Given the description of an element on the screen output the (x, y) to click on. 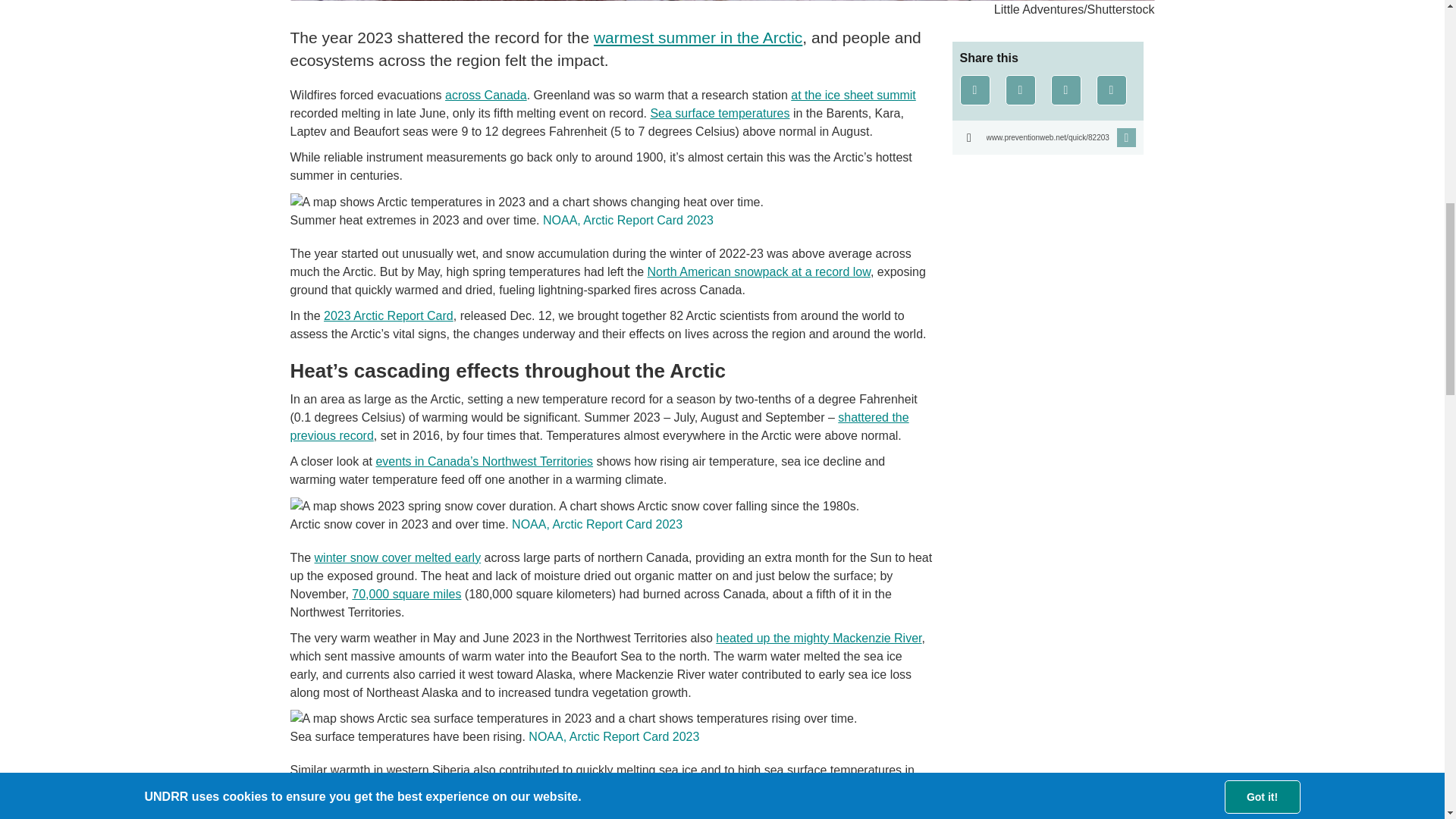
Sea surface temperatures (719, 113)
Share via Email (1111, 90)
NOAA, Arctic Report Card 2023 (628, 219)
Share on Facebook (974, 90)
North American snowpack at a record low (758, 271)
warmest summer in the Arctic (698, 36)
NOAA, Arctic Report Card 2023 (597, 523)
Share on LinkedIn (1066, 90)
across Canada (486, 94)
shattered the previous record (598, 426)
Share on Twitter (1020, 90)
winter snow cover melted early (397, 557)
Copy to Clipboard (1047, 137)
2023 Arctic Report Card (387, 315)
at the ice sheet summit (852, 94)
